Given the description of an element on the screen output the (x, y) to click on. 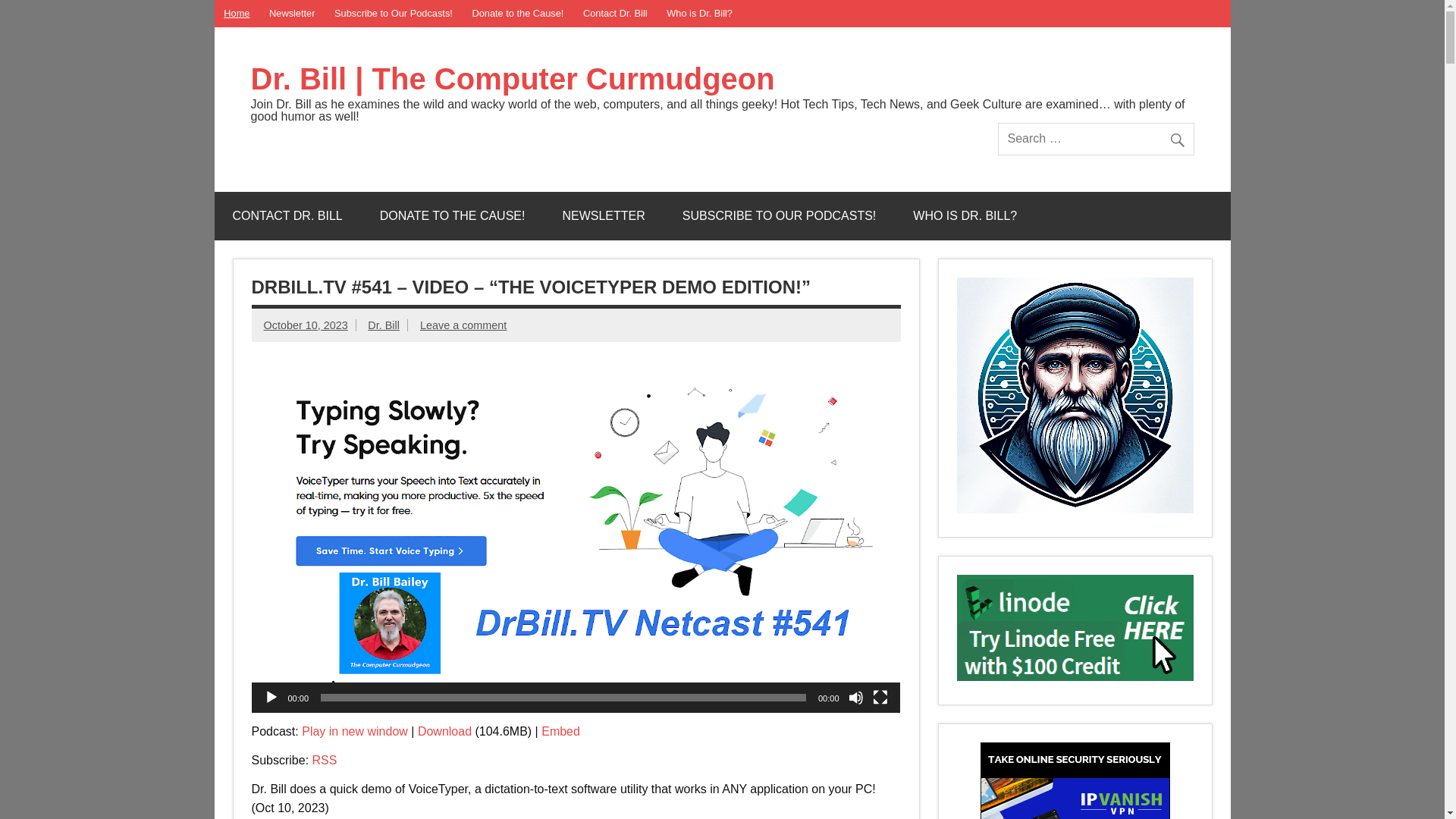
Download Element type: text (444, 730)
Who is Dr. Bill? Element type: text (698, 13)
RSS Element type: text (324, 759)
Subscribe to Our Podcasts! Element type: text (392, 13)
Dr. Bill | The Computer Curmudgeon Element type: text (512, 78)
NEWSLETTER Element type: text (602, 215)
Play in new window Element type: text (354, 730)
Dr. Bill Element type: text (383, 325)
SUBSCRIBE TO OUR PODCASTS! Element type: text (779, 215)
Mute Element type: hover (854, 697)
CONTACT DR. BILL Element type: text (286, 215)
Play Element type: hover (271, 697)
Home Element type: text (236, 13)
Embed Element type: text (560, 730)
Leave a comment Element type: text (463, 325)
Newsletter Element type: text (291, 13)
WHO IS DR. BILL? Element type: text (964, 215)
DONATE TO THE CAUSE! Element type: text (452, 215)
Contact Dr. Bill Element type: text (614, 13)
October 10, 2023 Element type: text (305, 325)
Fullscreen Element type: hover (879, 697)
Donate to the Cause! Element type: text (518, 13)
